Given the description of an element on the screen output the (x, y) to click on. 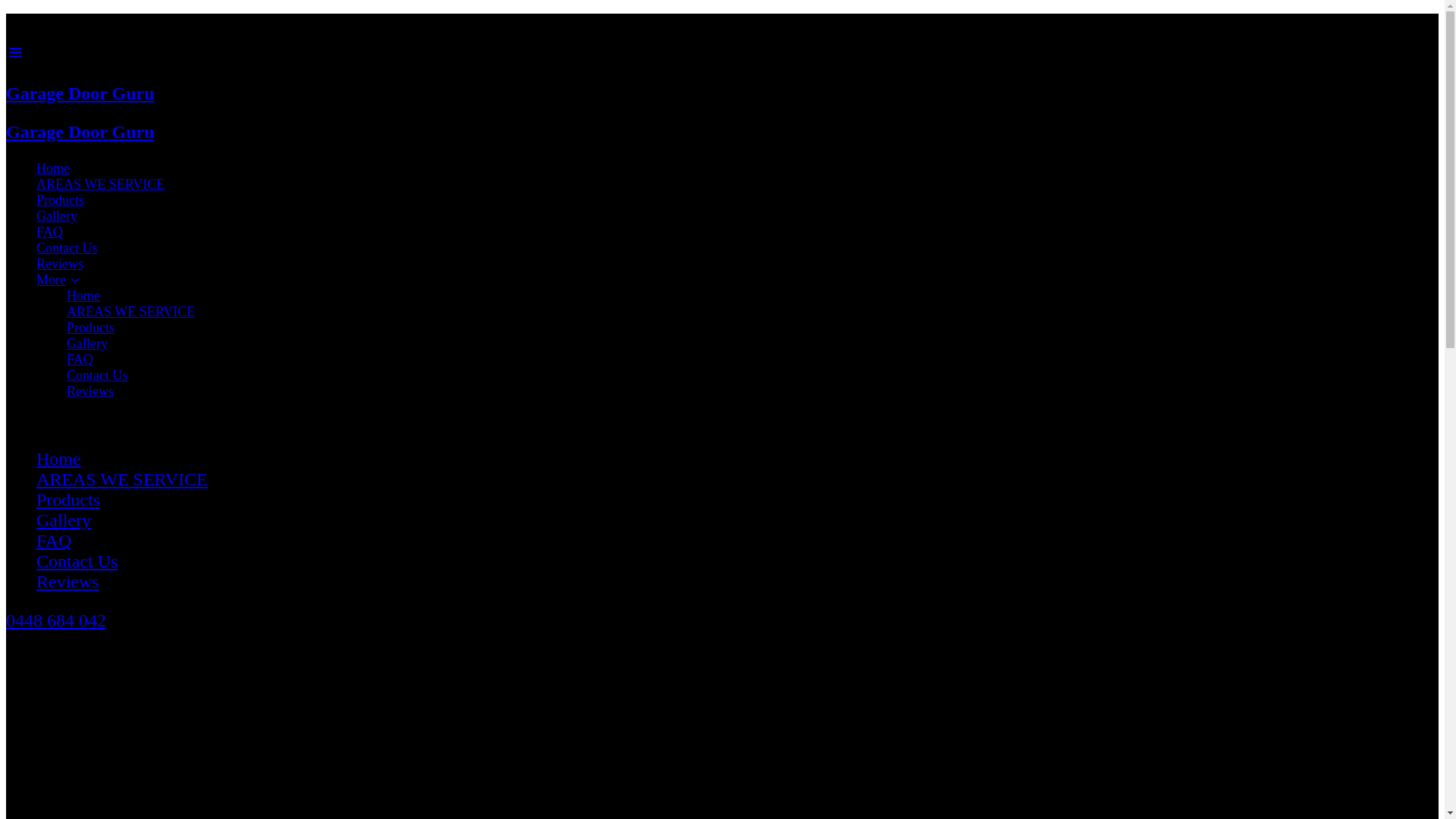
Gallery Element type: text (63, 520)
Products Element type: text (60, 199)
0448 684 042 Element type: text (56, 620)
Home Element type: text (58, 458)
Products Element type: text (90, 327)
Home Element type: text (52, 167)
Contact Us Element type: text (97, 374)
Products Element type: text (68, 499)
More Element type: text (506, 280)
FAQ Element type: text (79, 359)
Gallery Element type: text (86, 343)
Reviews Element type: text (67, 581)
Reviews Element type: text (59, 263)
AREAS WE SERVICE Element type: text (130, 311)
AREAS WE SERVICE Element type: text (100, 183)
Contact Us Element type: text (66, 247)
AREAS WE SERVICE Element type: text (121, 479)
Contact Us Element type: text (76, 561)
FAQ Element type: text (49, 231)
FAQ Element type: text (53, 540)
Reviews Element type: text (89, 390)
Home Element type: text (83, 295)
Gallery Element type: text (56, 215)
Garage Door Guru Element type: text (491, 132)
Garage Door Guru Element type: text (491, 93)
